Given the description of an element on the screen output the (x, y) to click on. 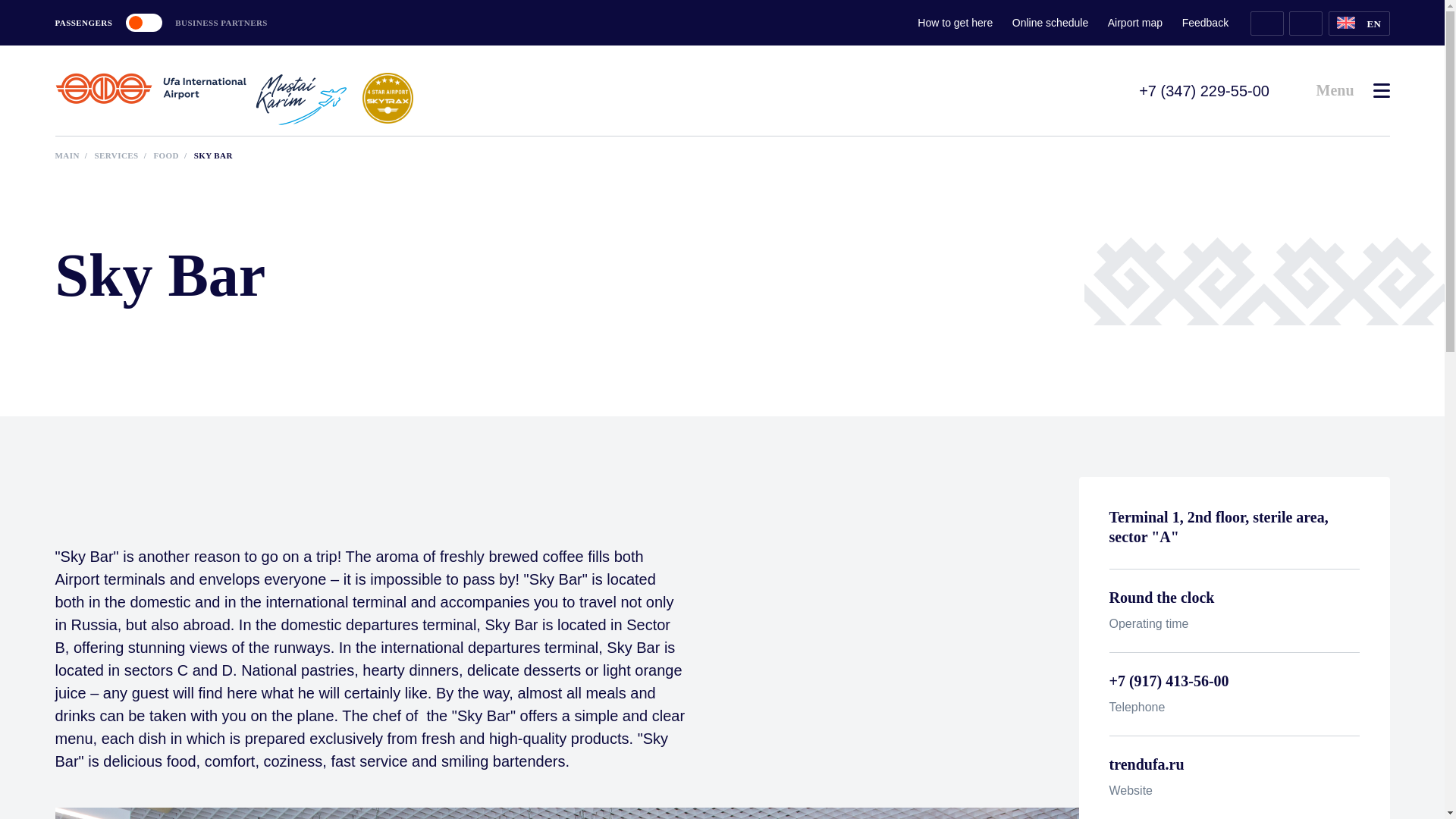
How to get here (954, 23)
MAIN (66, 154)
Airport map (1134, 23)
trendufa.ru (1233, 763)
Online schedule (1049, 23)
FOOD (165, 154)
SERVICES (116, 154)
Feedback (1205, 23)
EN (1359, 23)
